Given the description of an element on the screen output the (x, y) to click on. 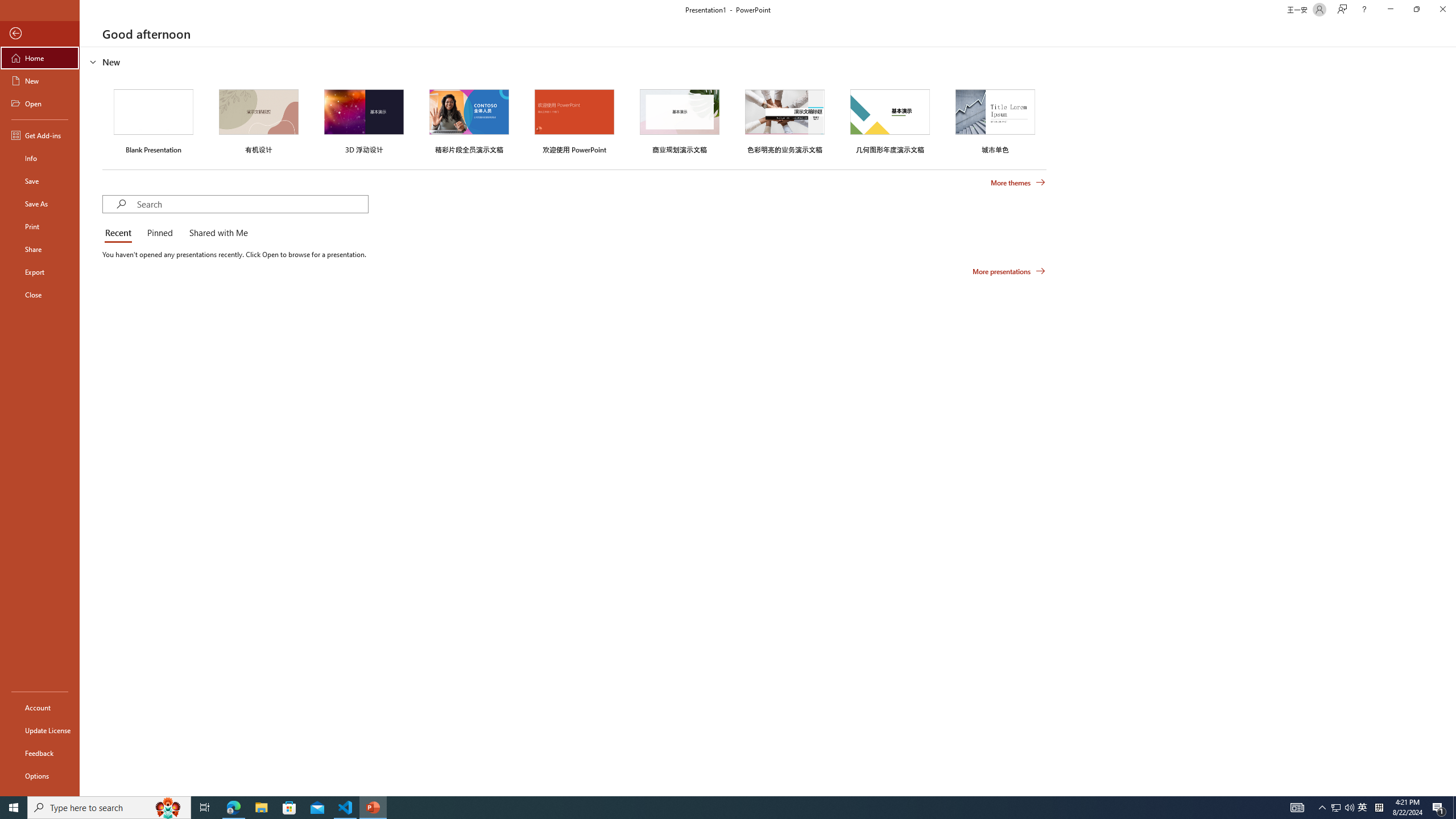
Options (40, 775)
Back (40, 33)
Print (40, 225)
